Given the description of an element on the screen output the (x, y) to click on. 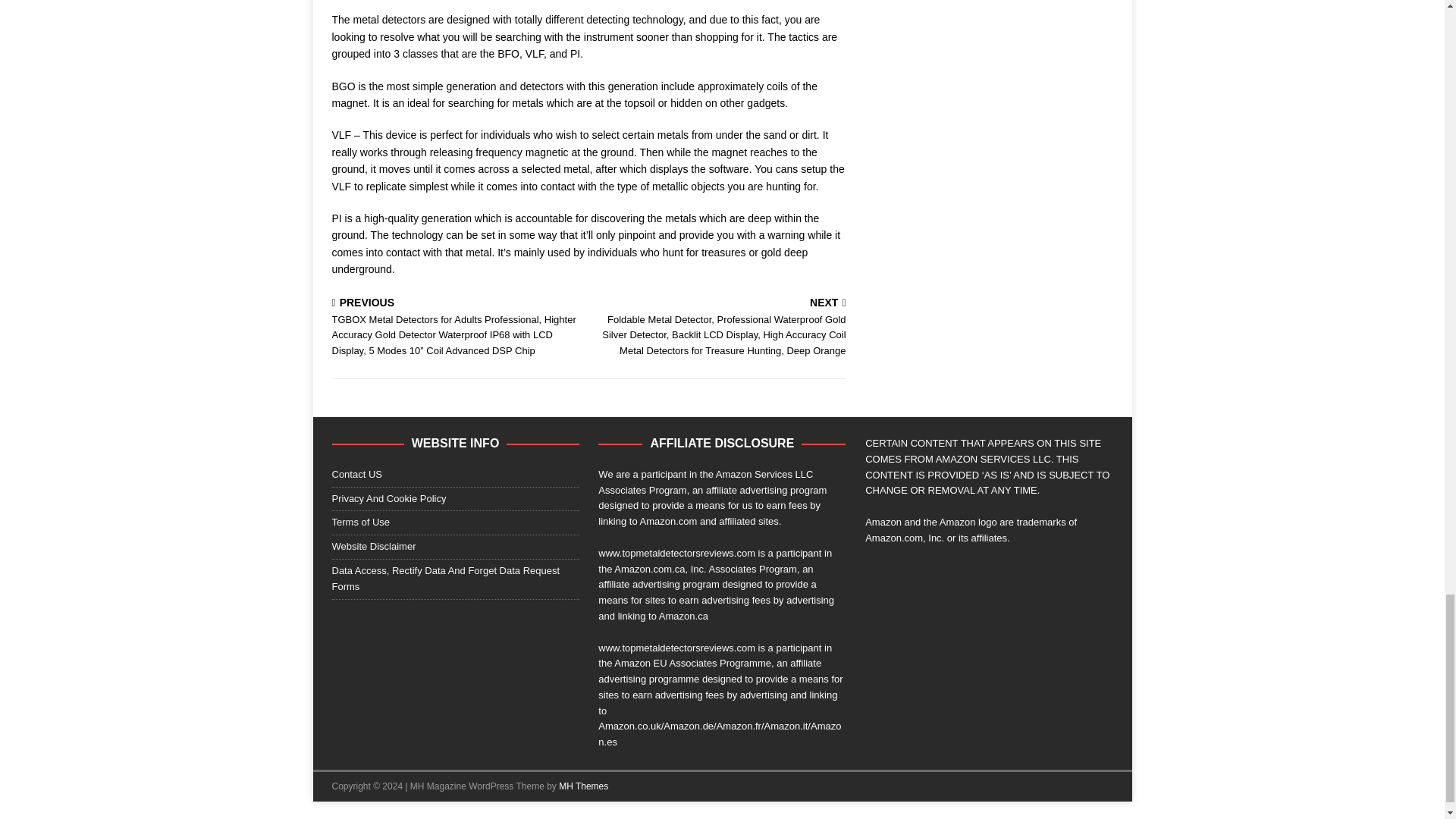
Premium WordPress Themes (583, 786)
Contact US (455, 476)
